Given the description of an element on the screen output the (x, y) to click on. 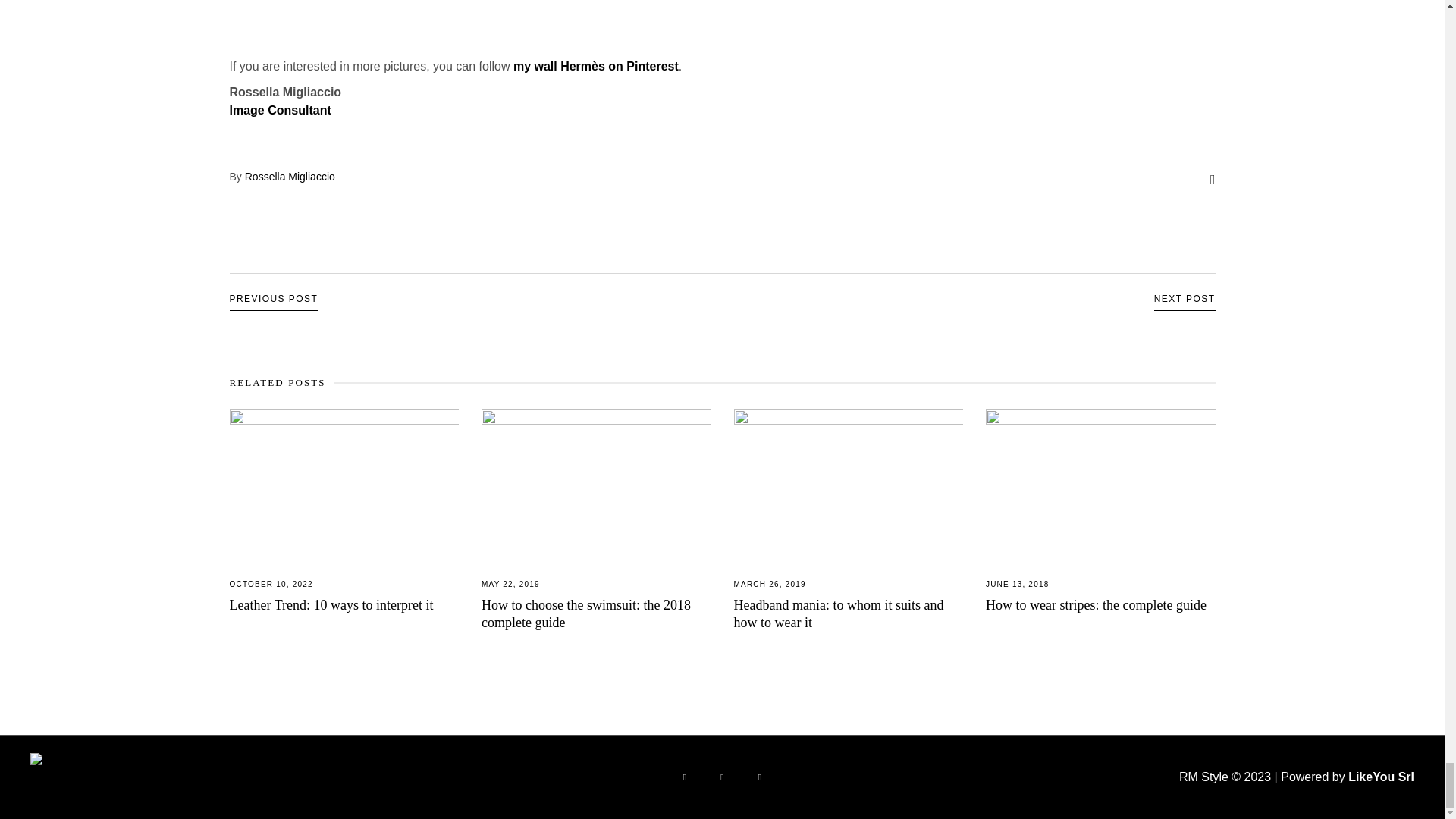
Leather Trend: 10 ways to interpret it (343, 485)
Headband mania: to whom it suits and how to wear it (838, 613)
How to choose the swimsuit: the 2018 complete guide (596, 485)
How to choose the swimsuit: the 2018 complete guide (585, 613)
Headband mania: to whom it suits and how to wear it (848, 485)
How to wear stripes: the complete guide (1096, 604)
How to wear stripes: the complete guide (1100, 485)
Leather Trend: 10 ways to interpret it (330, 604)
